Given the description of an element on the screen output the (x, y) to click on. 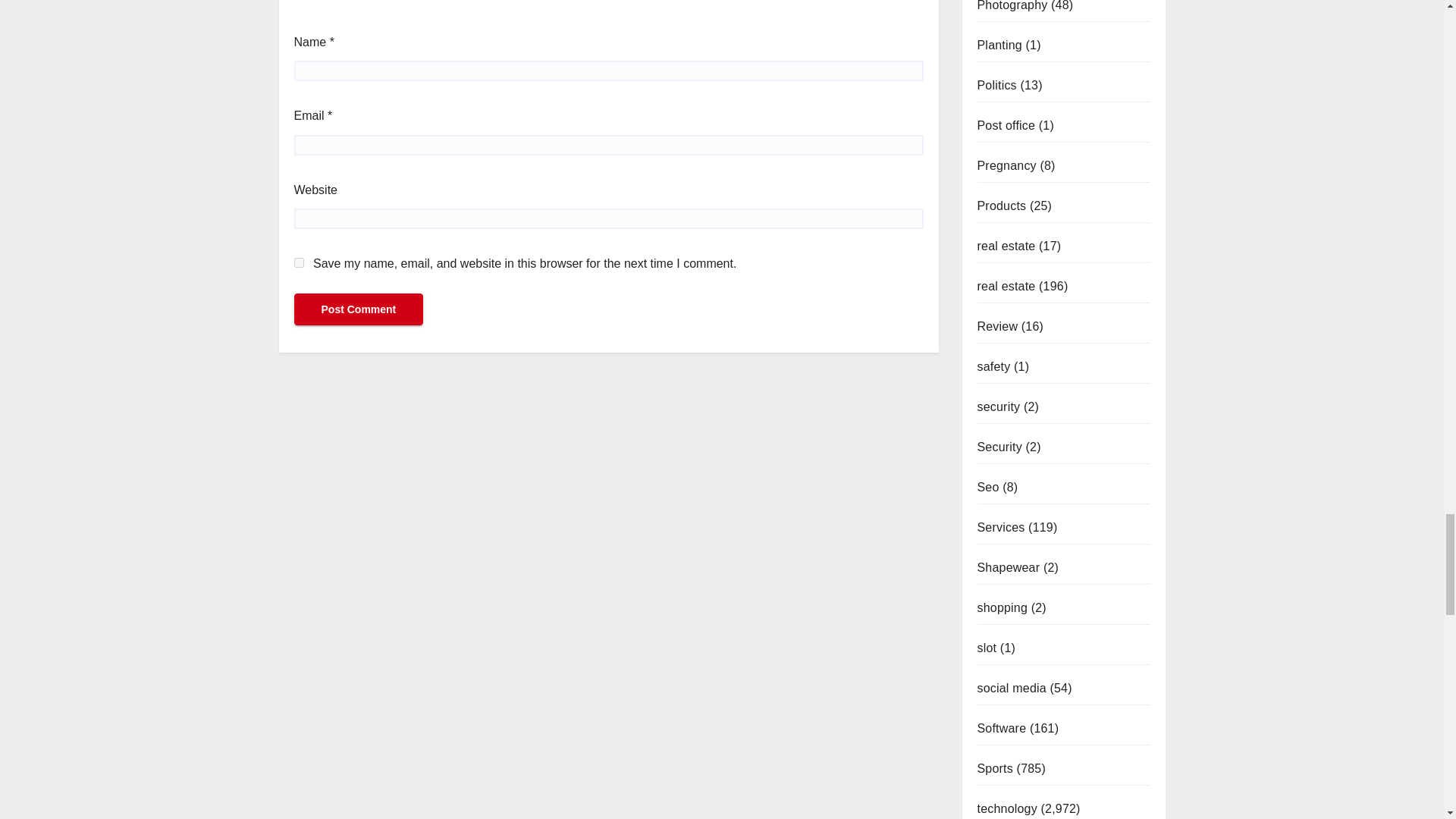
Post Comment (358, 309)
yes (299, 262)
